Given the description of an element on the screen output the (x, y) to click on. 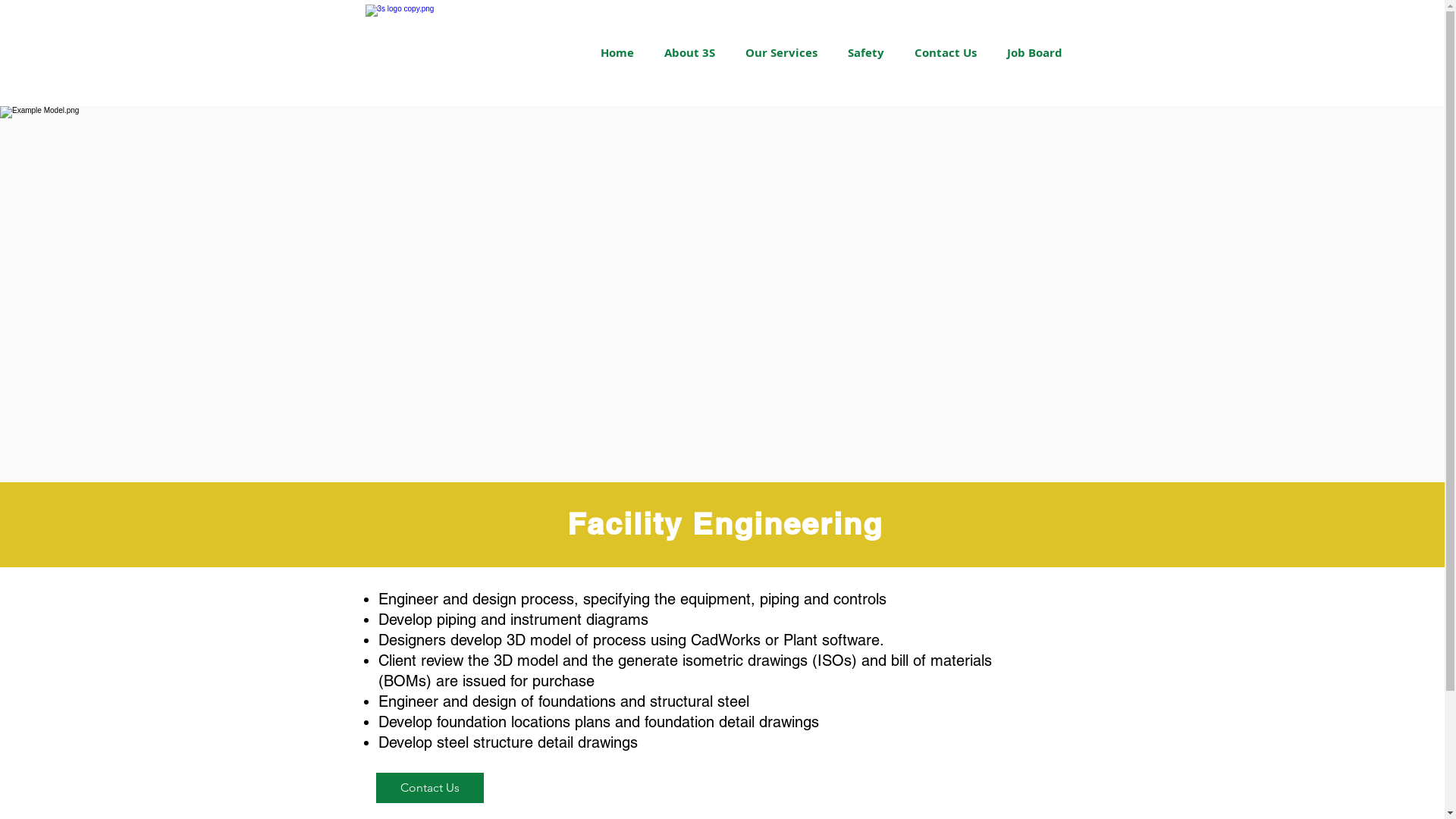
About 3S Element type: text (689, 52)
Home Element type: text (617, 52)
Contact Us Element type: text (945, 52)
Contact Us Element type: text (429, 787)
Safety Element type: text (865, 52)
Job Board Element type: text (1034, 52)
